Given the description of an element on the screen output the (x, y) to click on. 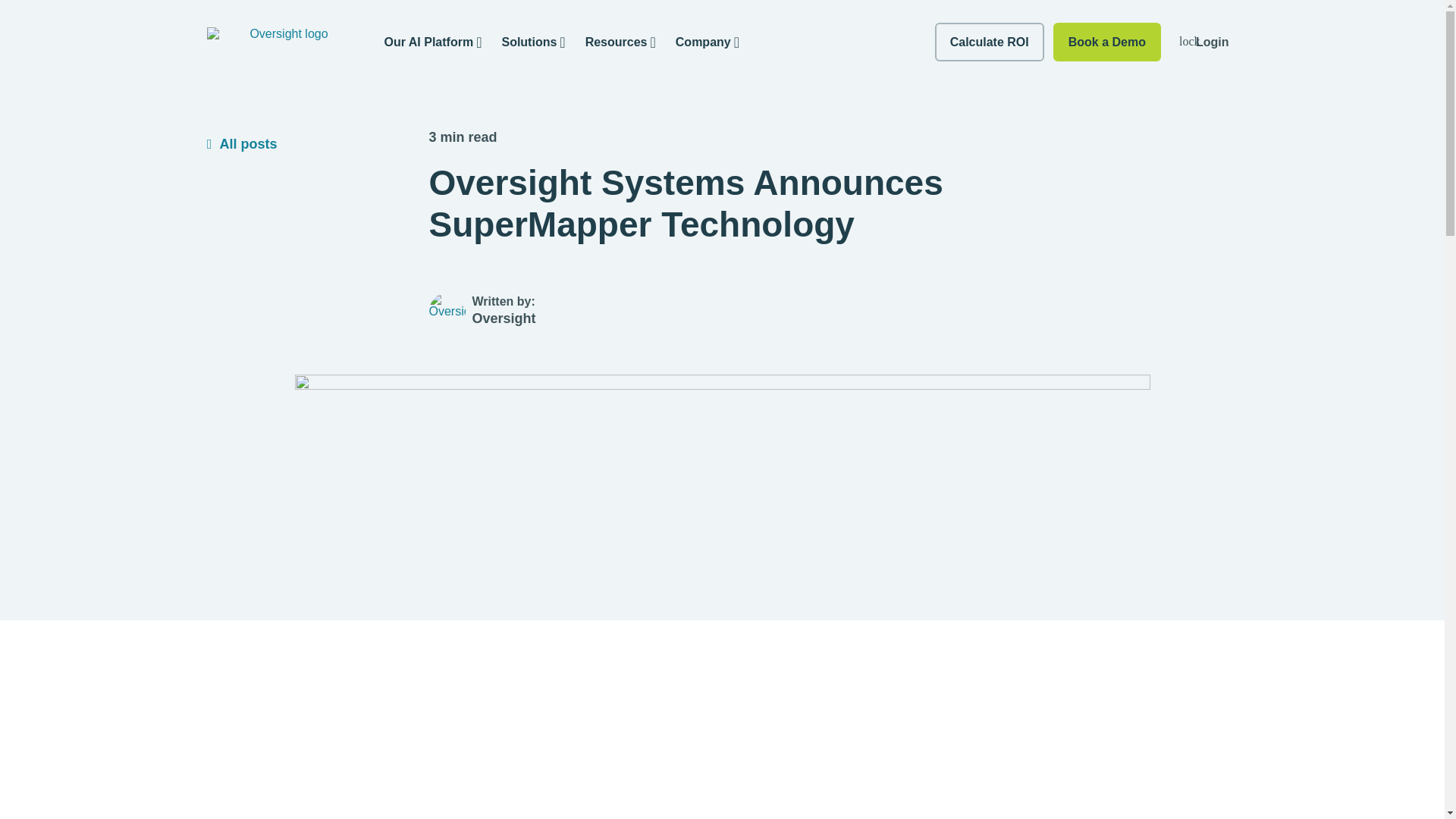
Our AI Platform (433, 41)
Solutions (533, 41)
